Given the description of an element on the screen output the (x, y) to click on. 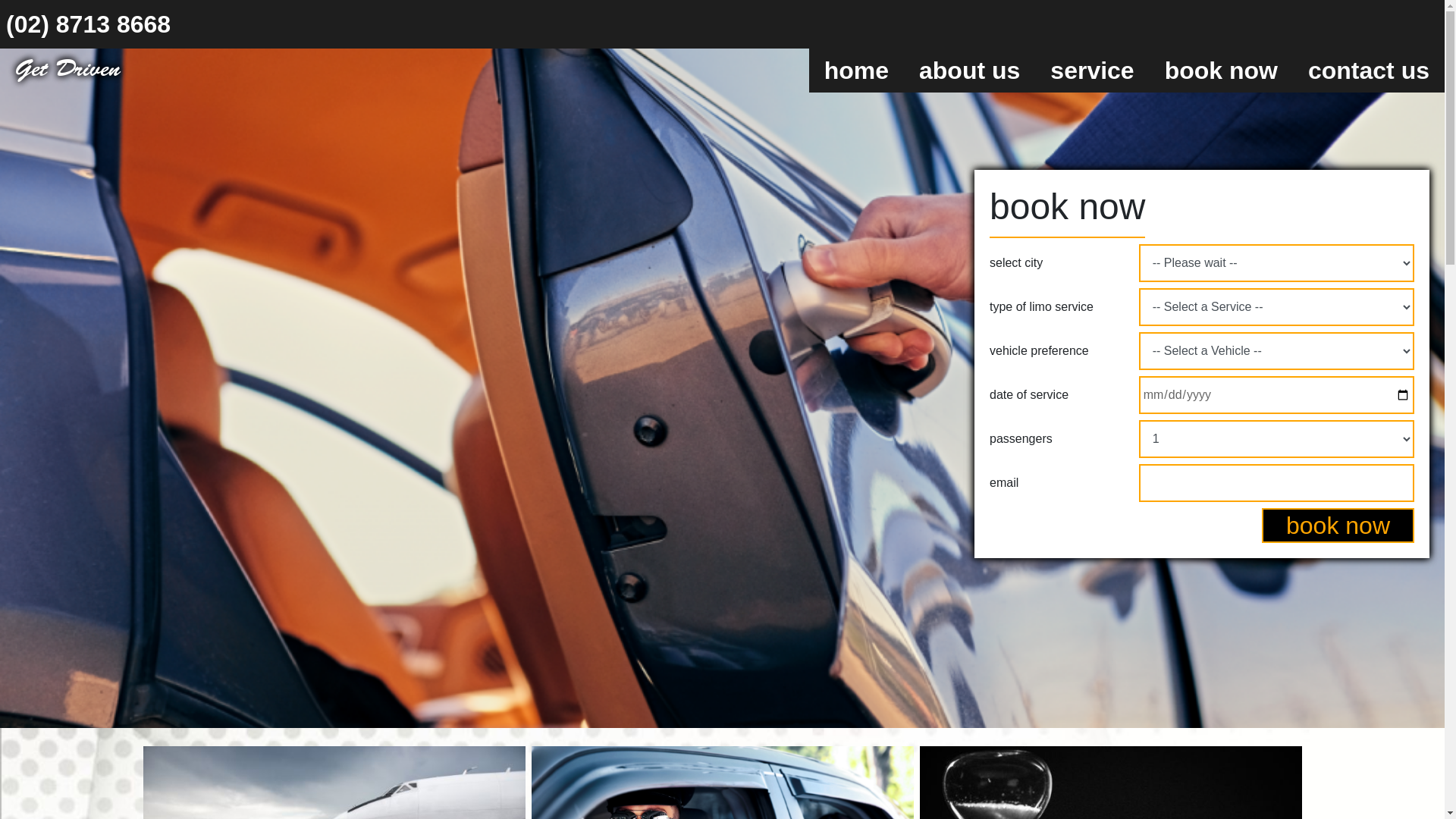
book now Element type: text (1337, 525)
about us Element type: text (969, 70)
book now Element type: text (1220, 70)
home Element type: text (856, 70)
service Element type: text (1091, 70)
(02) 8713 8668 Element type: text (88, 23)
contact us Element type: text (1368, 70)
